Given the description of an element on the screen output the (x, y) to click on. 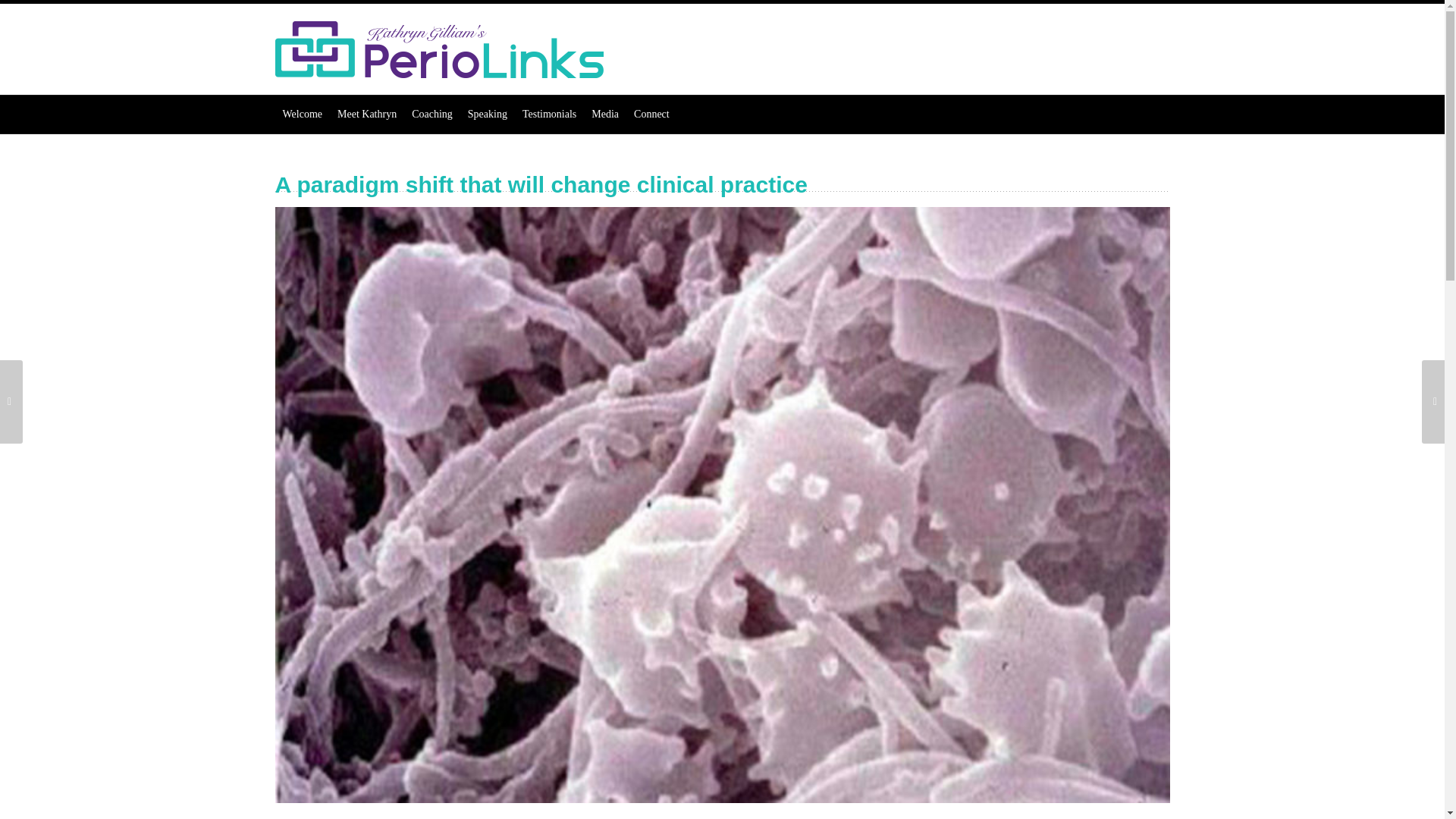
Connect (651, 114)
Coaching (432, 114)
A paradigm shift that will change clinical practice (722, 504)
Welcome (302, 114)
Meet Kathryn (367, 114)
Speaking (487, 114)
Testimonials (549, 114)
PerioLinks (438, 49)
Media (604, 114)
